Given the description of an element on the screen output the (x, y) to click on. 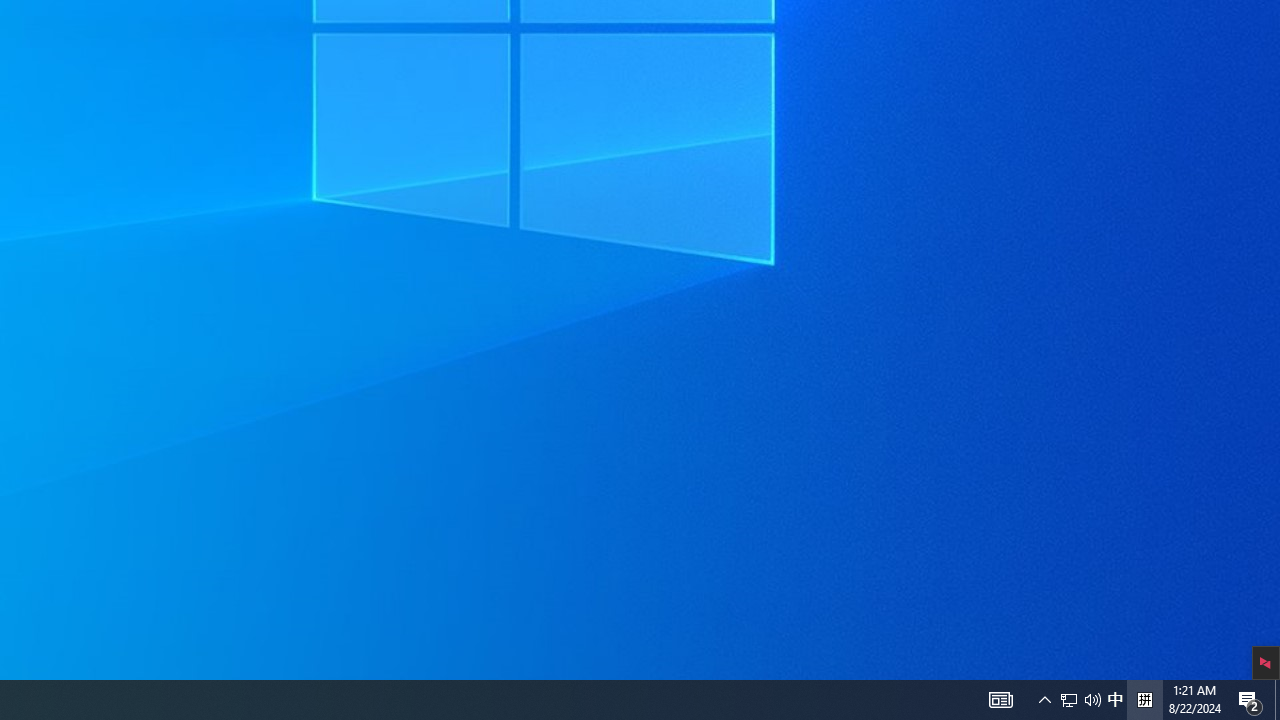
AutomationID: 4105 (1000, 699)
Notification Chevron (1069, 699)
Action Center, 2 new notifications (1115, 699)
Tray Input Indicator - Chinese (Simplified, China) (1044, 699)
User Promoted Notification Area (1250, 699)
Q2790: 100% (1144, 699)
Show desktop (1080, 699)
